Given the description of an element on the screen output the (x, y) to click on. 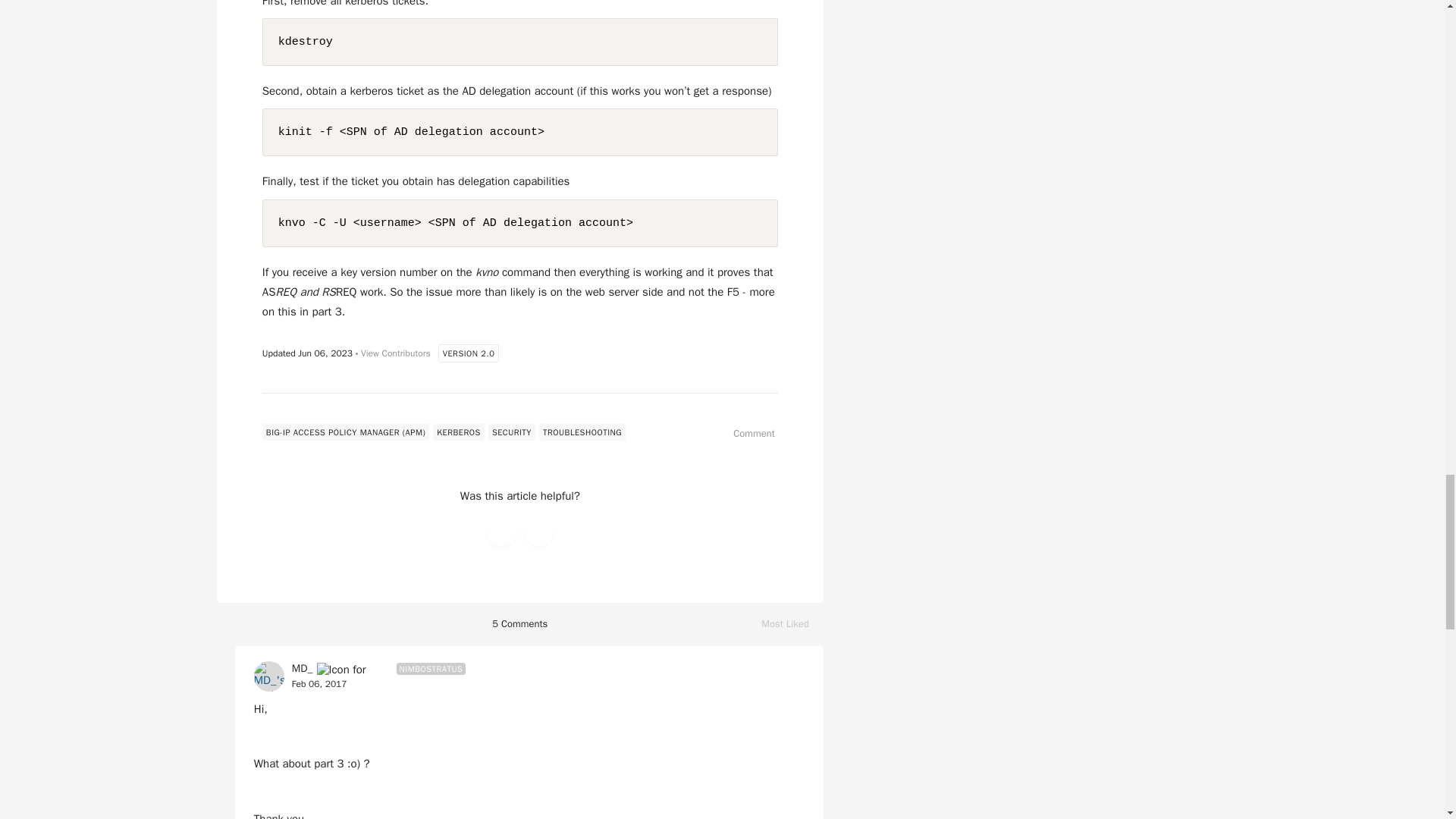
June 6, 2023 at 5:49 AM (325, 353)
View Contributors (395, 354)
KERBEROS (458, 432)
TROUBLESHOOTING (582, 432)
SECURITY (511, 432)
Feb 06, 2017 (792, 624)
Comment (319, 684)
February 6, 2017 at 12:58 PM (745, 433)
